Given the description of an element on the screen output the (x, y) to click on. 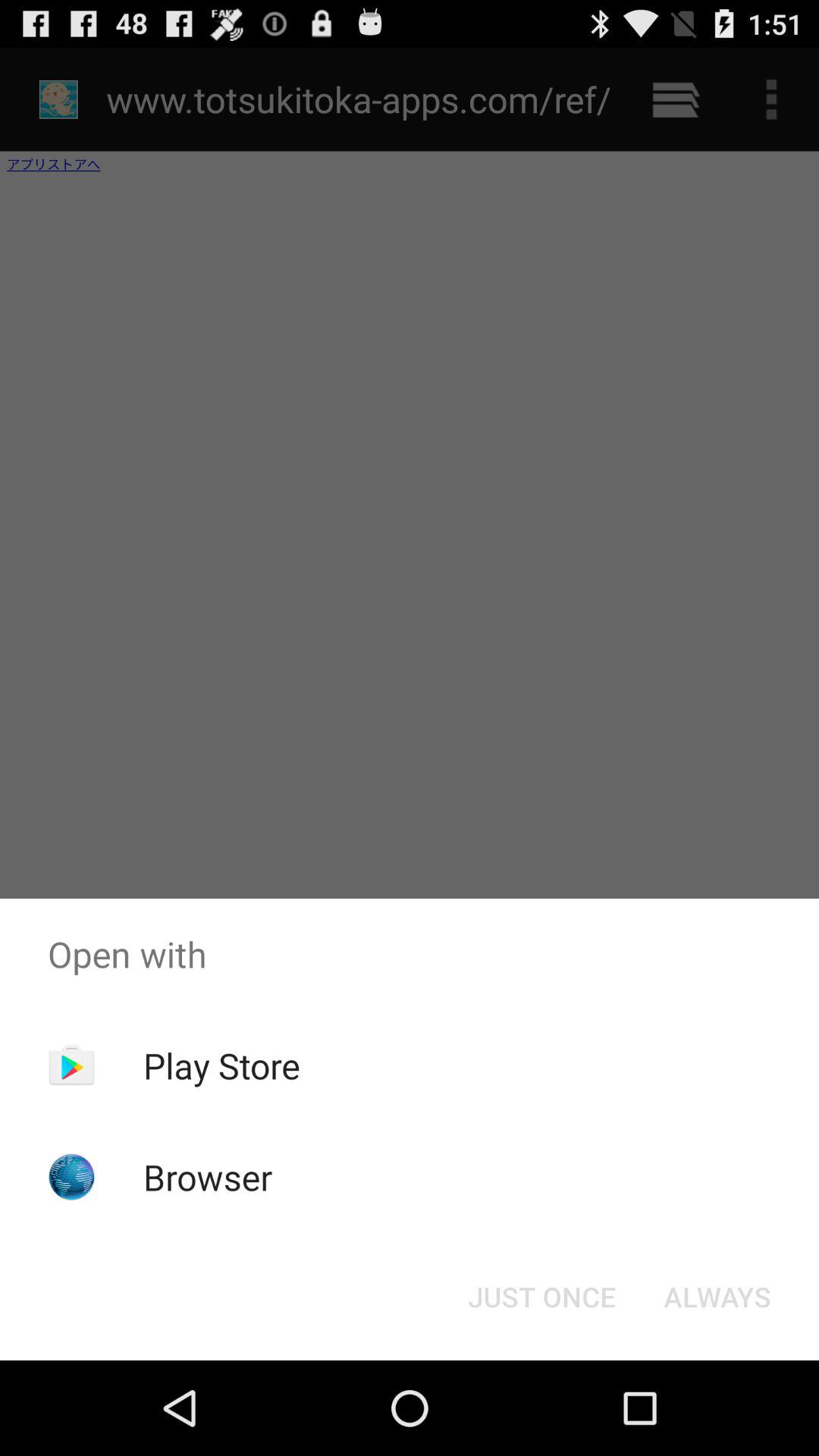
launch item next to the just once button (717, 1296)
